Given the description of an element on the screen output the (x, y) to click on. 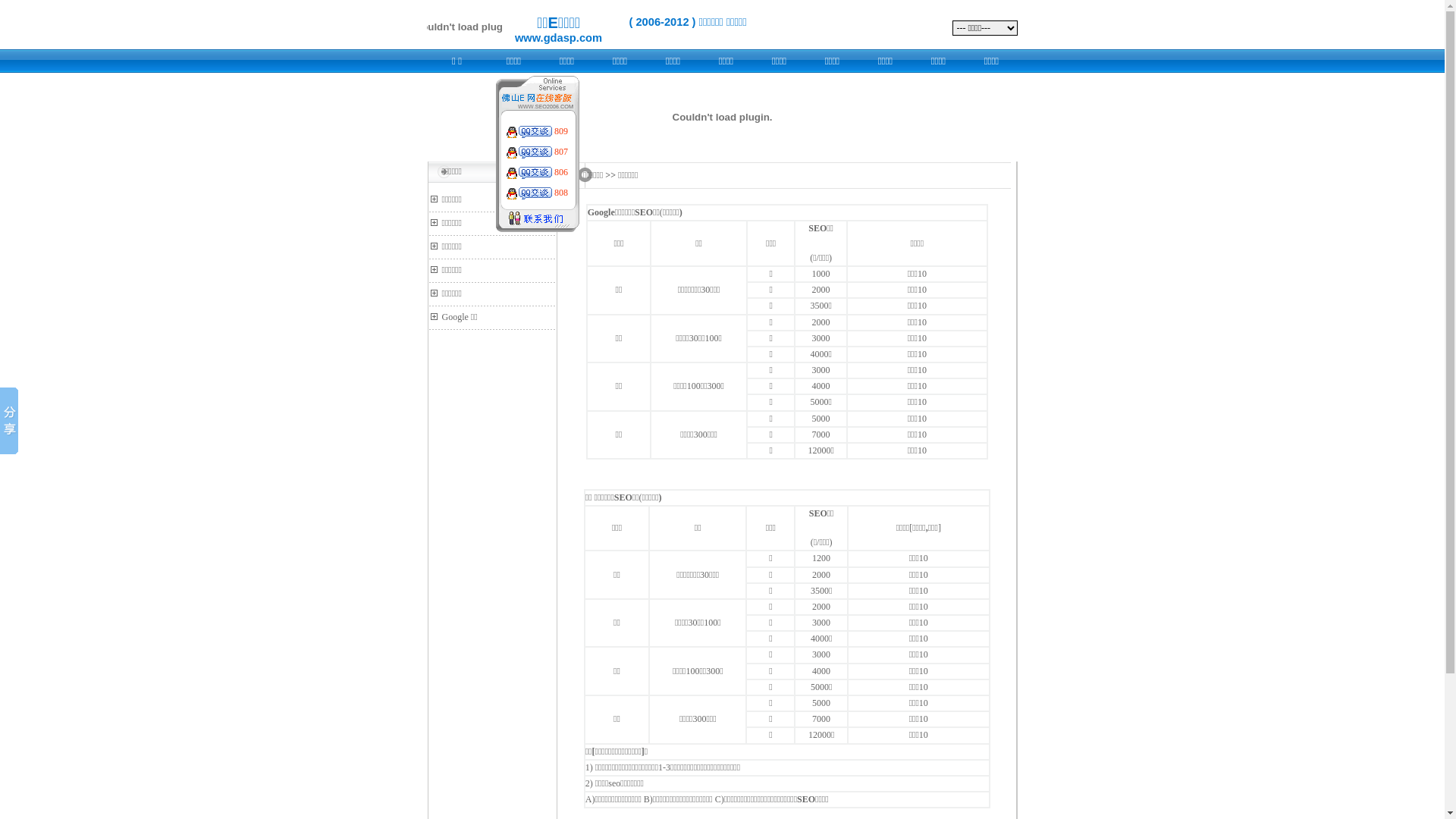
808 Element type: text (560, 192)
807 Element type: text (560, 151)
www.gdasp.com Element type: text (558, 38)
809 Element type: text (560, 130)
806 Element type: text (560, 171)
